Given the description of an element on the screen output the (x, y) to click on. 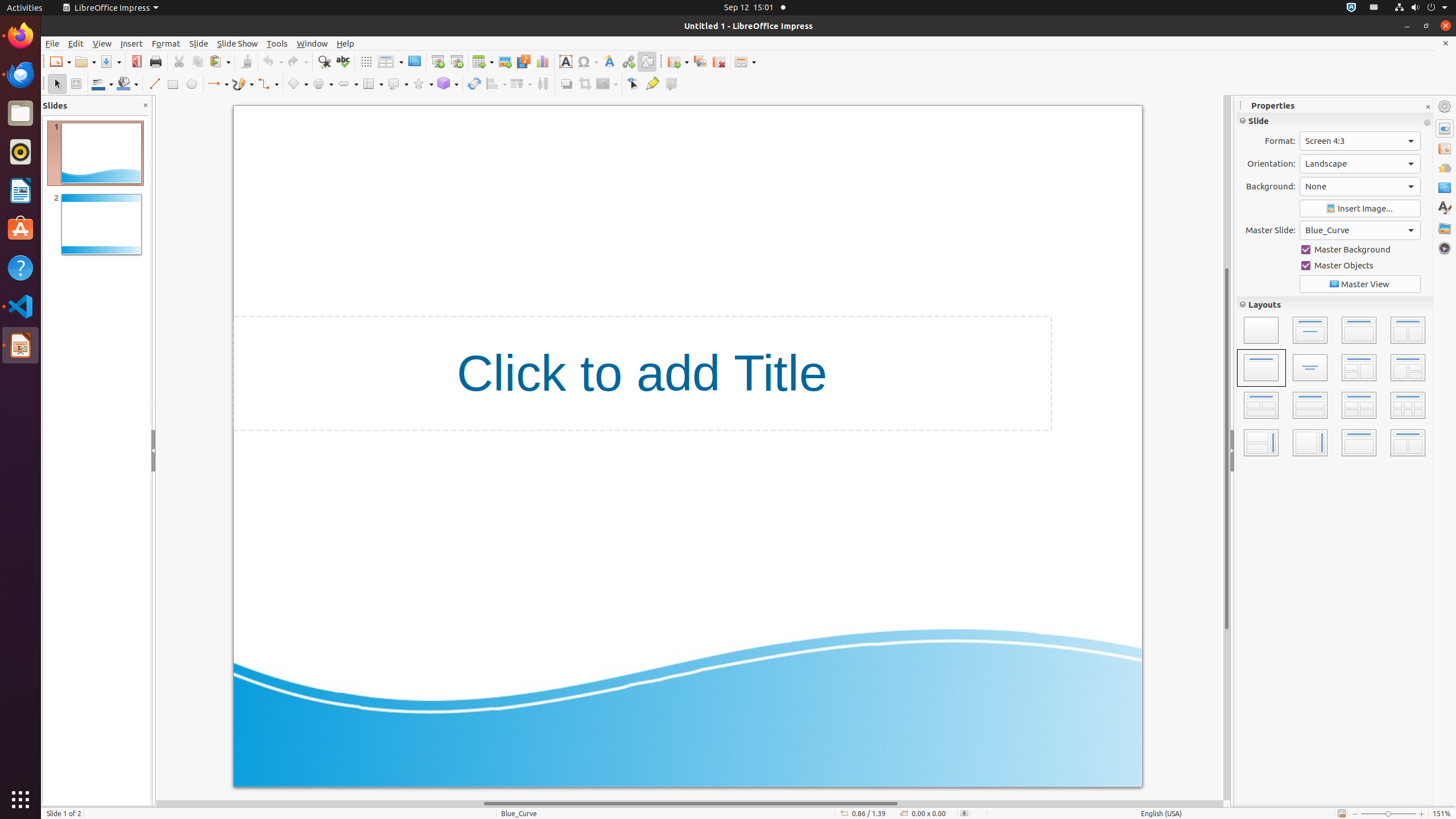
Edit Element type: menu (75, 43)
Justified Element type: push-button (1290, 234)
Format Element type: menu (165, 43)
Bold Element type: toggle-button (1247, 166)
3D Objects Element type: push-button (447, 83)
